Given the description of an element on the screen output the (x, y) to click on. 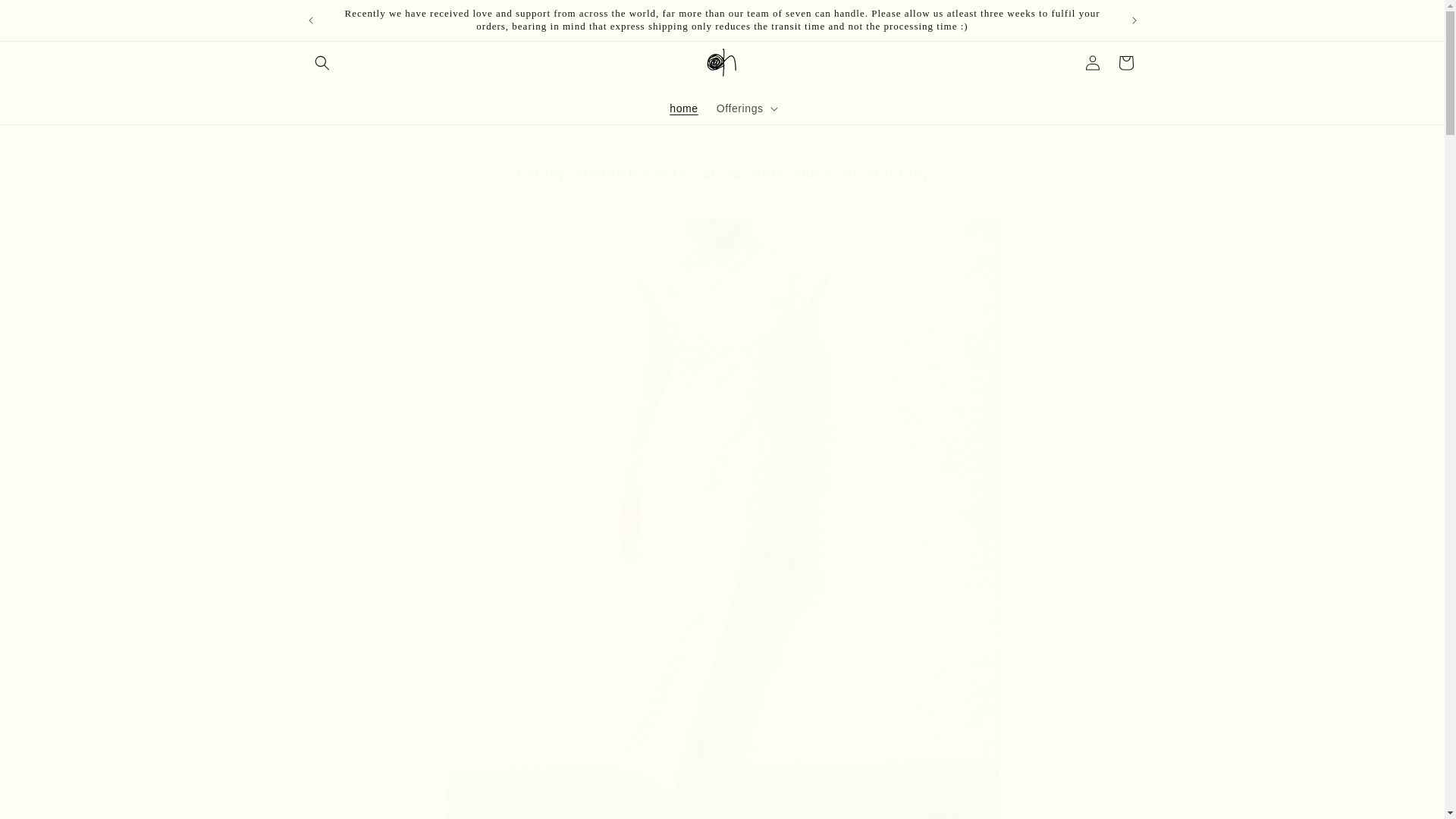
making memories with natural dyes and slow stitching (721, 173)
Skip to content (45, 17)
home (683, 108)
